Given the description of an element on the screen output the (x, y) to click on. 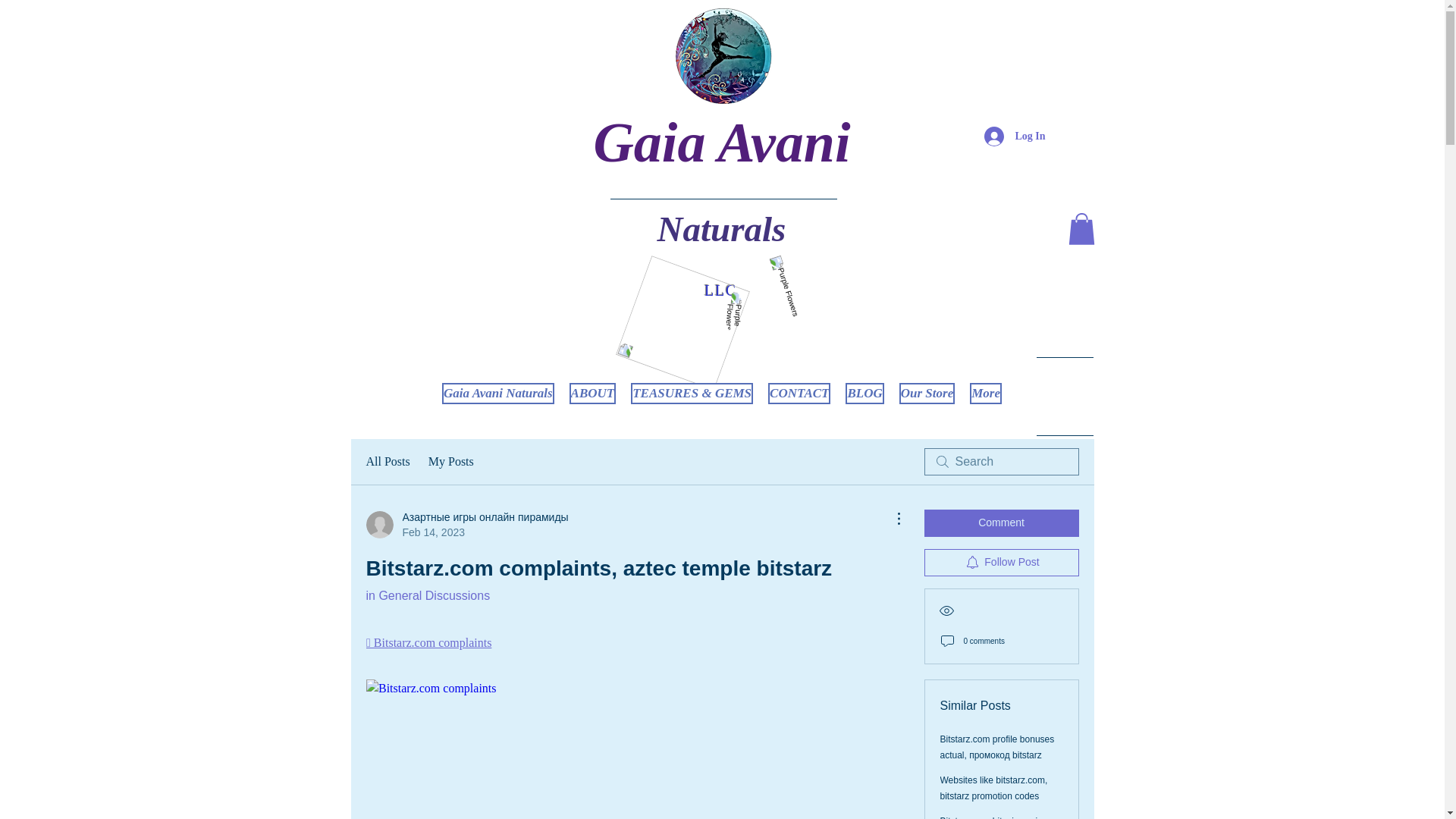
Log In (1014, 135)
Our Store (927, 399)
Follow Post (1000, 562)
Bitstarz.com bitcoin casino, bitstarz deposit promo code (995, 817)
BLOG (864, 399)
CONTACT (798, 399)
in General Discussions (427, 594)
ABOUT (592, 399)
Comment (1000, 523)
All Posts (387, 461)
Gaia Avani Naturals (498, 399)
Websites like bitstarz.com, bitstarz promotion codes (994, 787)
My Posts (451, 461)
